Given the description of an element on the screen output the (x, y) to click on. 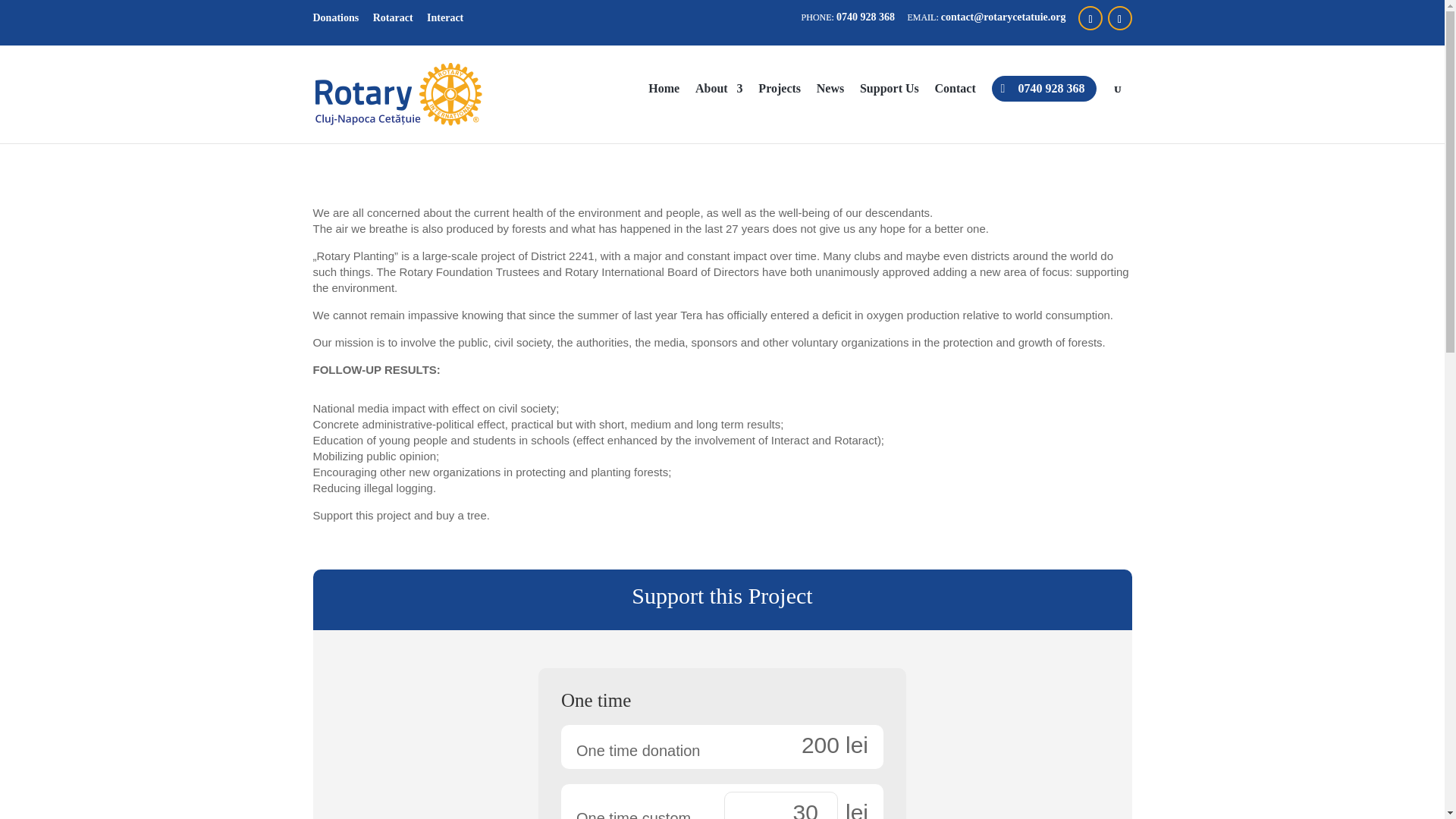
30 (780, 805)
Donations (335, 18)
Contact (954, 105)
0740 928 368 (1043, 88)
Interact (444, 18)
Support Us (889, 105)
Projects (779, 105)
About (718, 105)
Rotaract (392, 18)
